Given the description of an element on the screen output the (x, y) to click on. 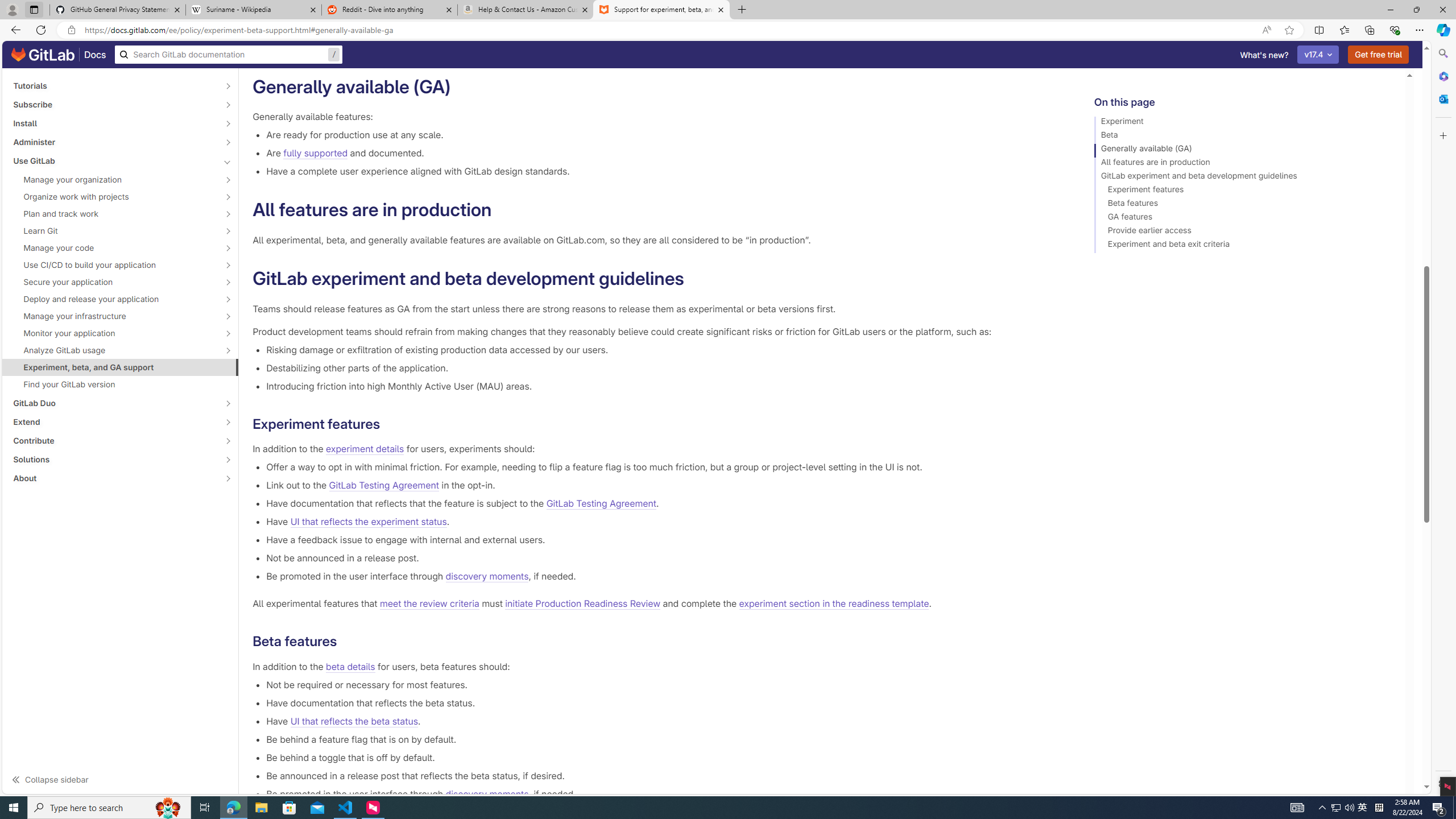
Have UI that reflects the beta status. (662, 721)
initiate Production Readiness Review (583, 603)
Deploy and release your application (113, 298)
Plan and track work (113, 213)
GitLab experiment and beta development guidelines (1244, 177)
Beta features (1244, 205)
GitLab documentation home Docs (58, 53)
discovery moments (486, 793)
Monitor your application (113, 333)
Extend (113, 421)
